Given the description of an element on the screen output the (x, y) to click on. 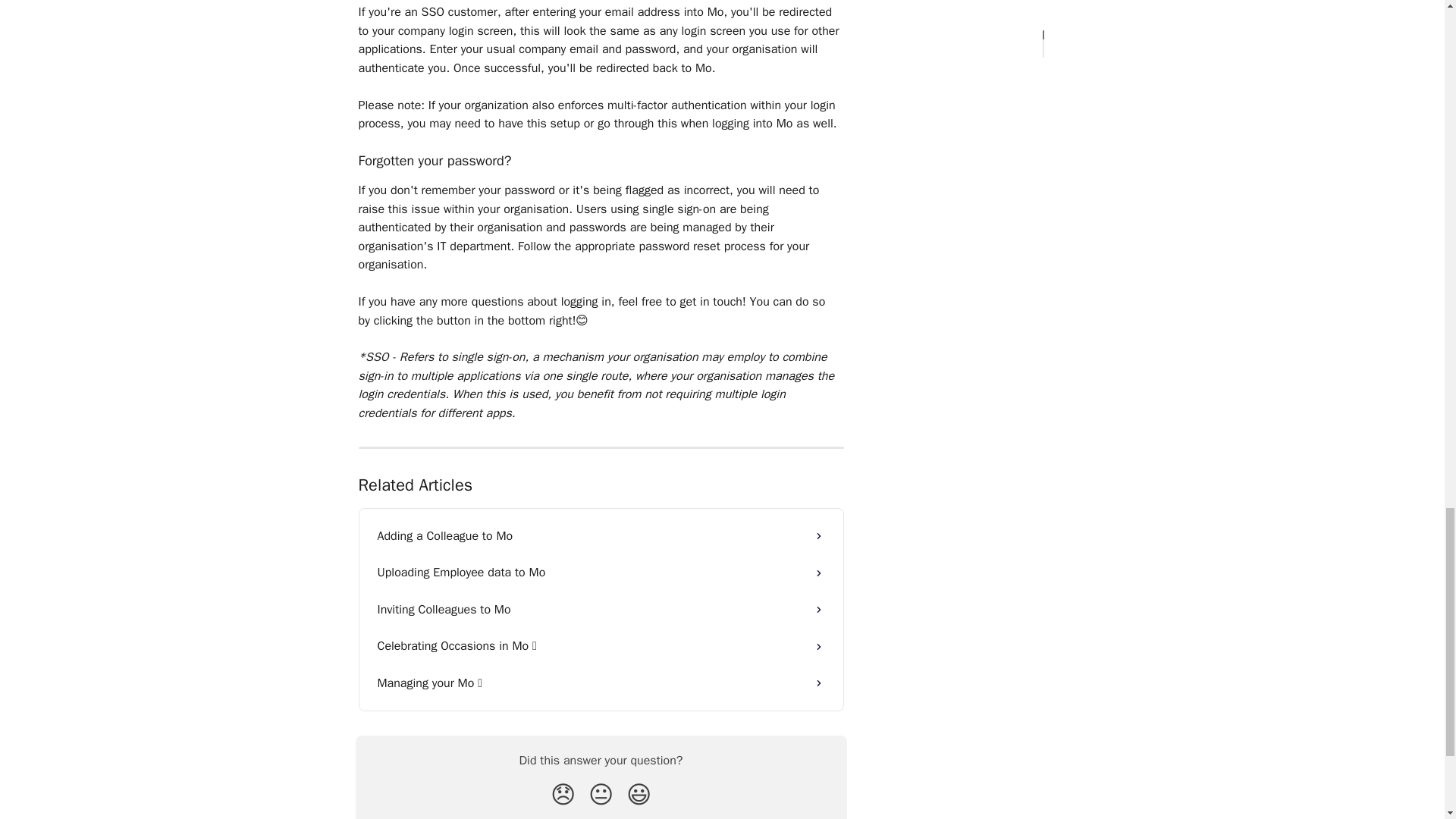
Uploading Employee data to Mo (601, 572)
Inviting Colleagues to Mo (601, 609)
Adding a Colleague to Mo (601, 535)
